Given the description of an element on the screen output the (x, y) to click on. 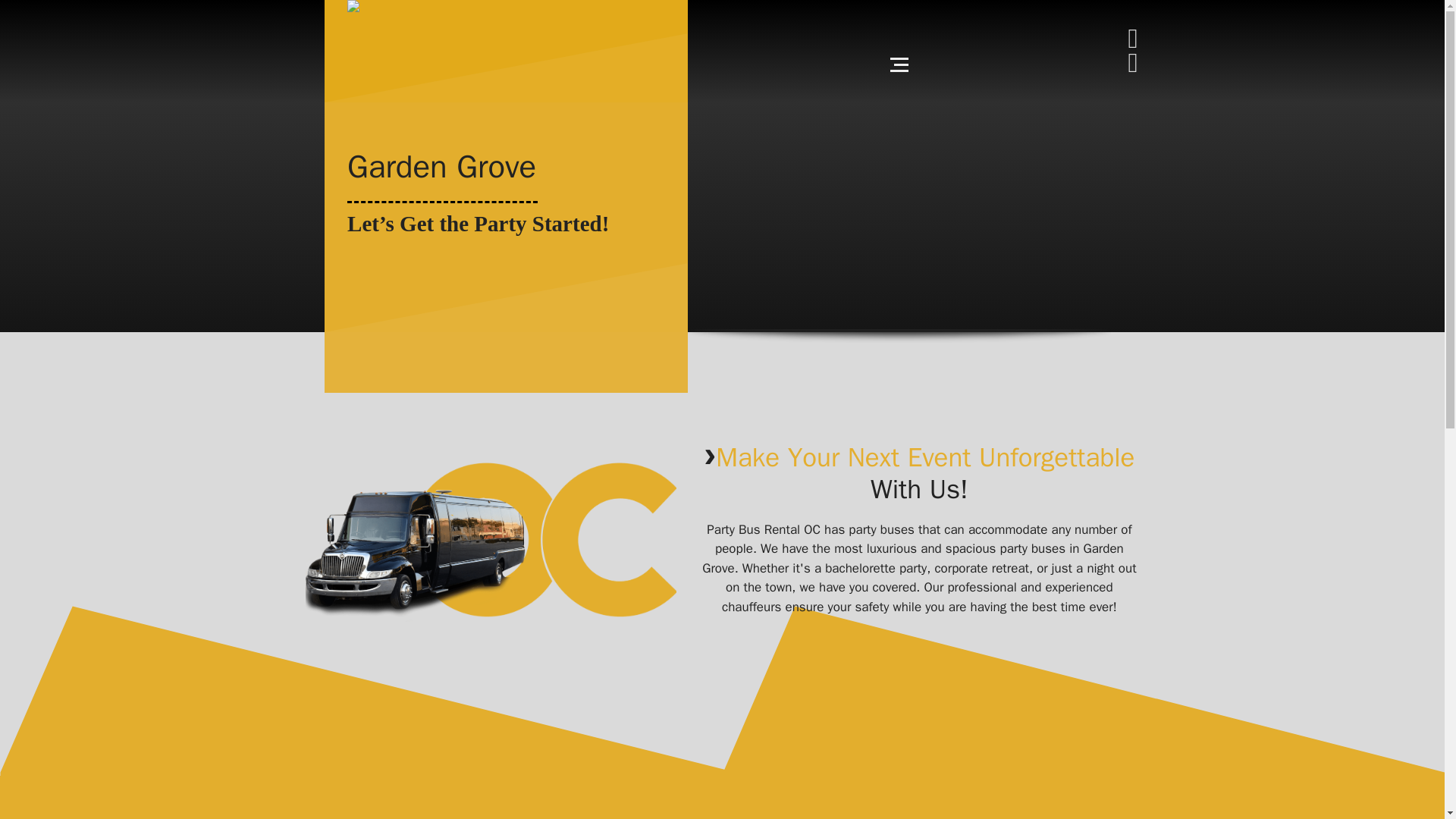
Party Bus Rental OC (490, 538)
Party Bus Rental OC (506, 39)
